Given the description of an element on the screen output the (x, y) to click on. 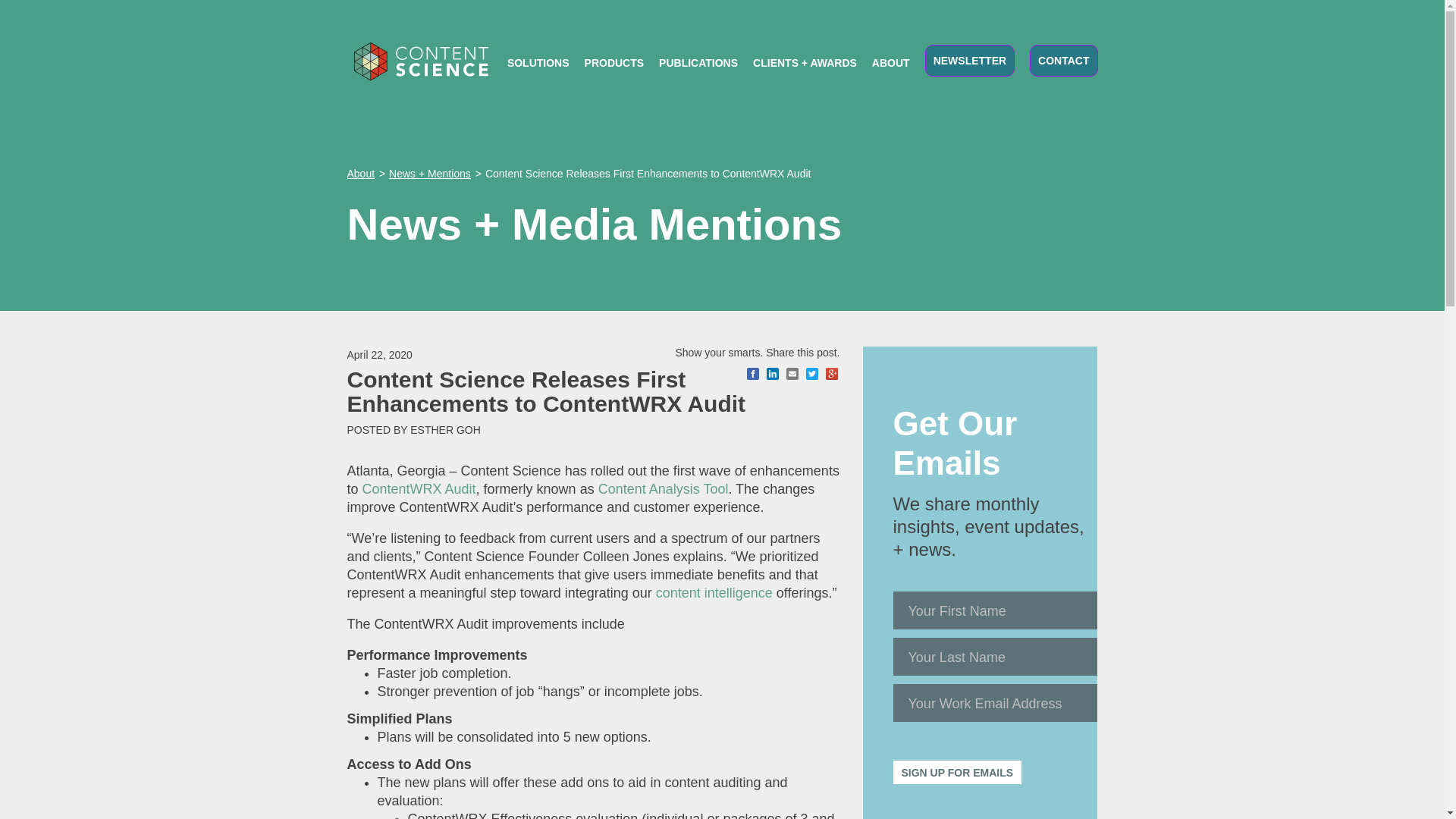
Sign Up for Emails (957, 771)
Content Analysis Tool (663, 488)
NEWSLETTER (969, 60)
ContentWRX Audit (419, 488)
ABOUT (891, 63)
SOLUTIONS (537, 63)
About (361, 173)
PUBLICATIONS (698, 63)
CONTACT (1063, 60)
PRODUCTS (615, 63)
content intelligence (714, 592)
About (361, 173)
